Given the description of an element on the screen output the (x, y) to click on. 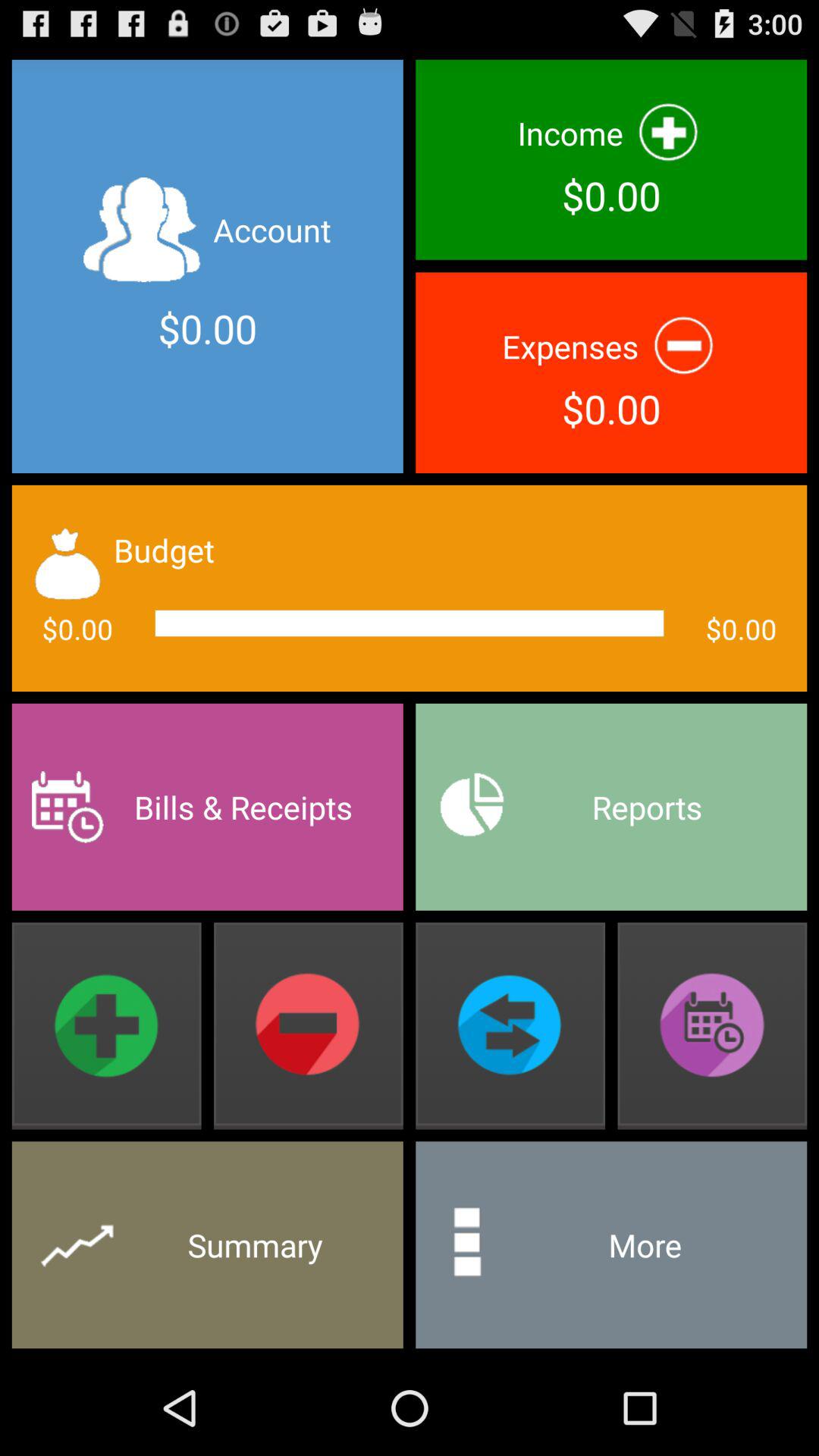
choose item to the left of reports (207, 806)
